Given the description of an element on the screen output the (x, y) to click on. 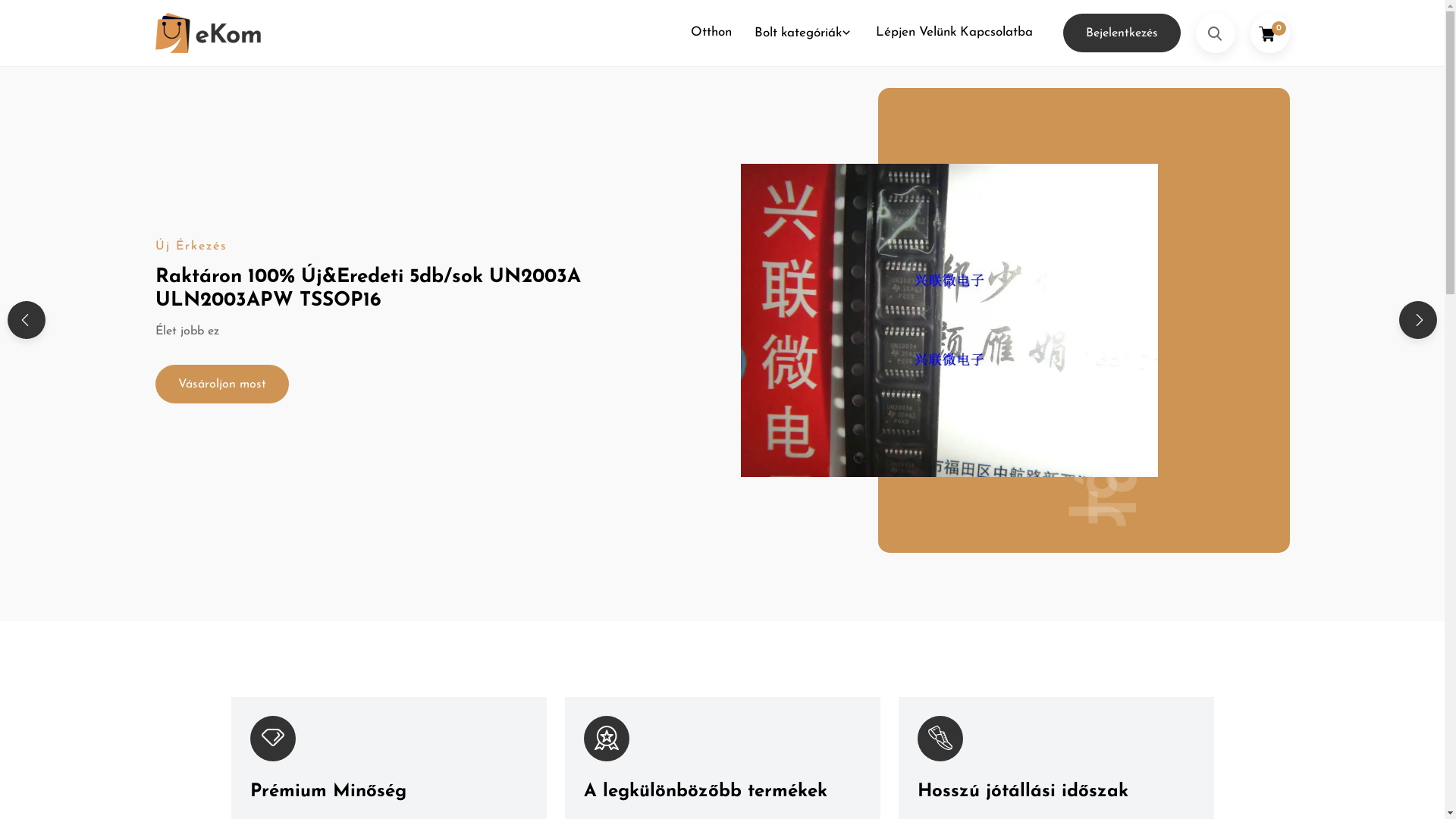
Otthon Element type: text (710, 32)
